Given the description of an element on the screen output the (x, y) to click on. 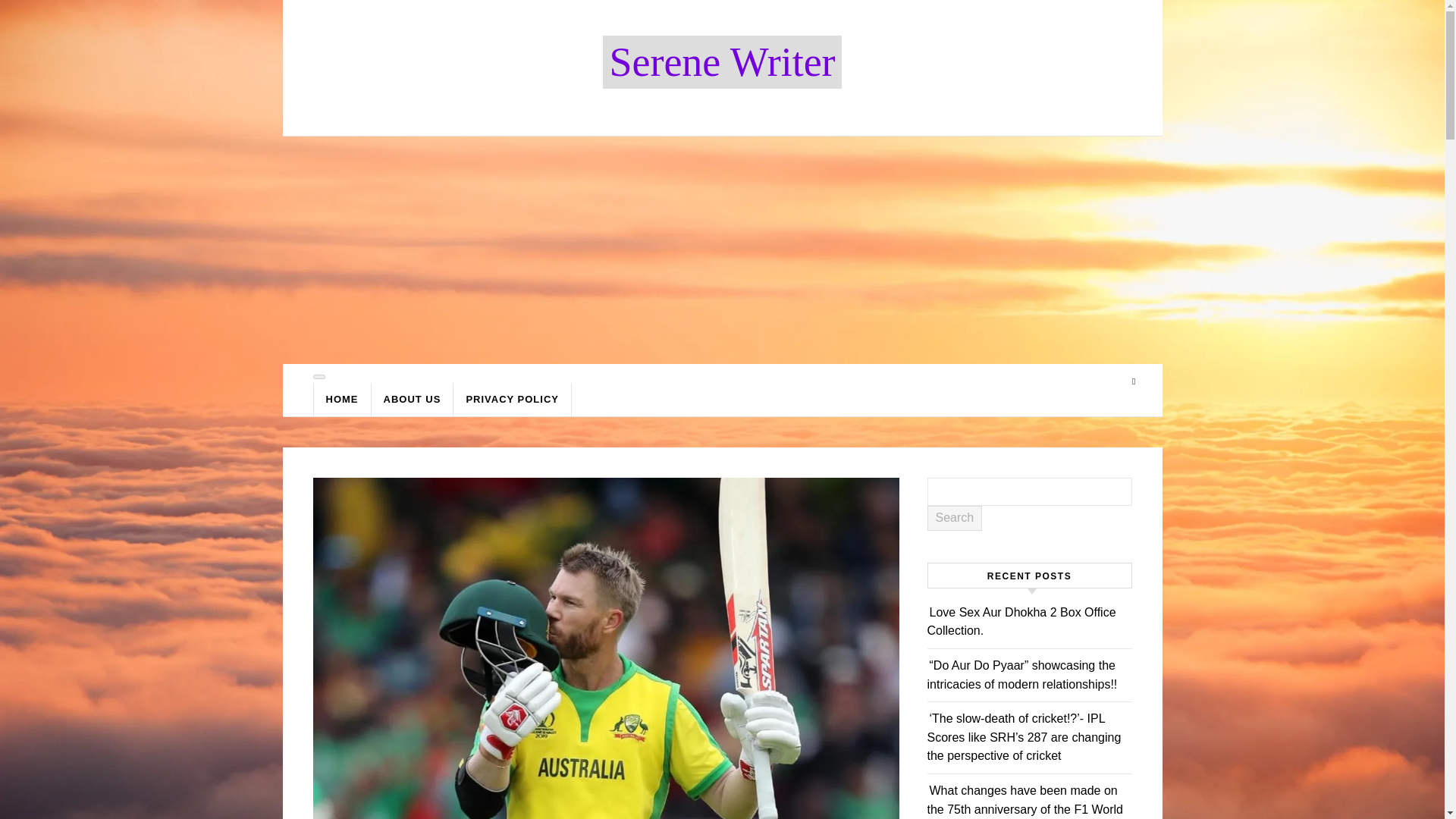
Search (953, 517)
HOME (341, 399)
Love Sex Aur Dhokha 2 Box Office Collection. (1020, 622)
PRIVACY POLICY (512, 399)
ABOUT US (410, 399)
Serene Writer (721, 61)
